Given the description of an element on the screen output the (x, y) to click on. 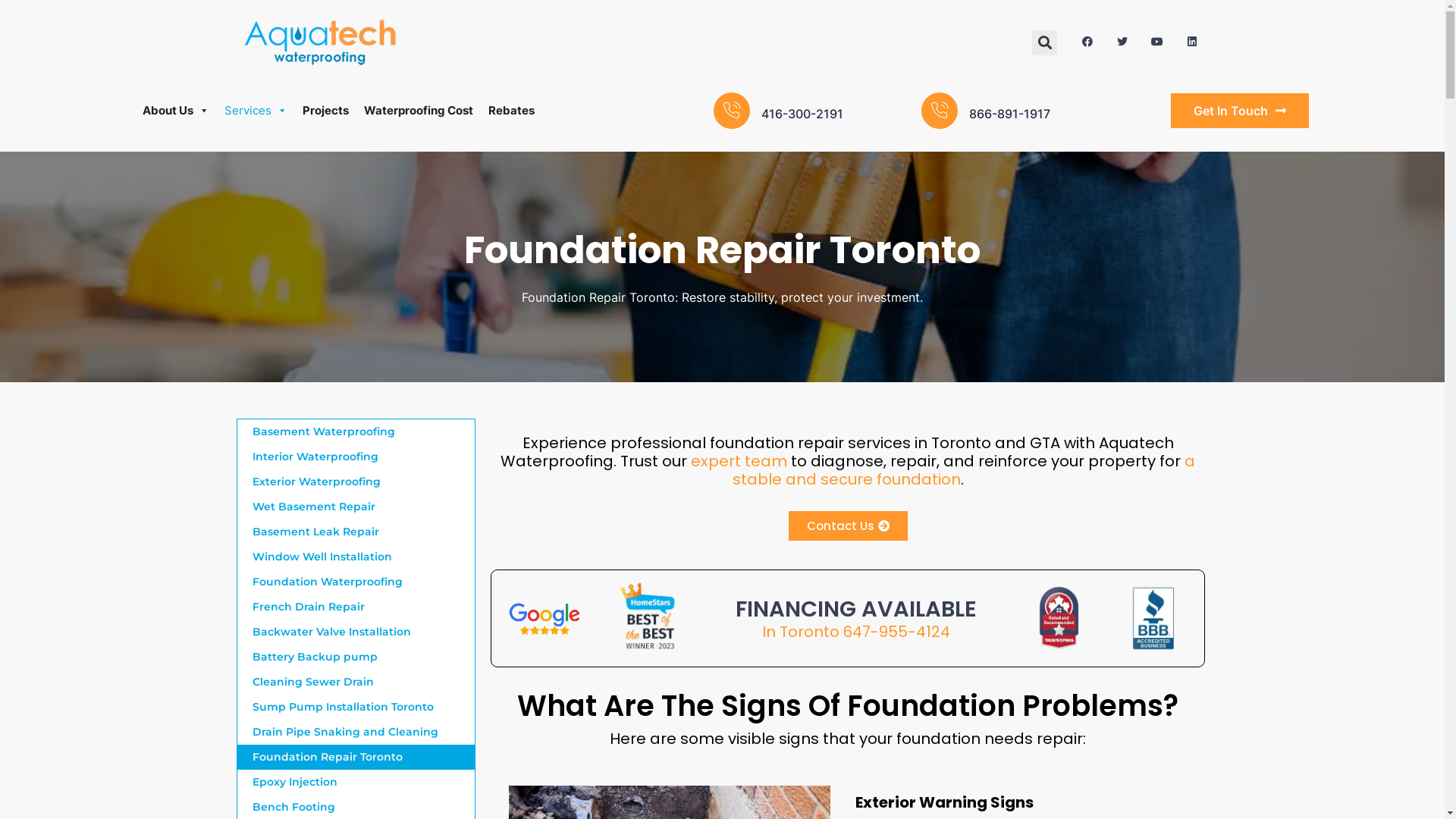
416-300-2191 Element type: text (802, 113)
About Us Element type: text (175, 110)
expert team Element type: text (738, 460)
a stable and secure foundation Element type: text (963, 469)
Epoxy Injection Element type: text (355, 781)
Exterior Waterproofing Element type: text (355, 481)
French Drain Repair Element type: text (355, 606)
Basement Waterproofing Element type: text (355, 431)
Basement Leak Repair Element type: text (355, 531)
Services Element type: text (255, 110)
Drain Pipe Snaking and Cleaning Element type: text (355, 731)
Sump Pump Installation Toronto Element type: text (355, 706)
Contact Us Element type: text (847, 525)
Waterproofing Cost Element type: text (418, 110)
Rebates Element type: text (511, 110)
Battery Backup pump Element type: text (355, 656)
Projects Element type: text (325, 110)
Get In Touch Element type: text (1239, 110)
Interior Waterproofing Element type: text (355, 456)
Window Well Installation Element type: text (355, 556)
Foundation Waterproofing Element type: text (355, 581)
Backwater Valve Installation Element type: text (355, 631)
Foundation Repair Toronto Element type: text (355, 756)
866-891-1917 Element type: text (1009, 113)
Cleaning Sewer Drain Element type: text (355, 681)
Wet Basement Repair Element type: text (355, 506)
